Given the description of an element on the screen output the (x, y) to click on. 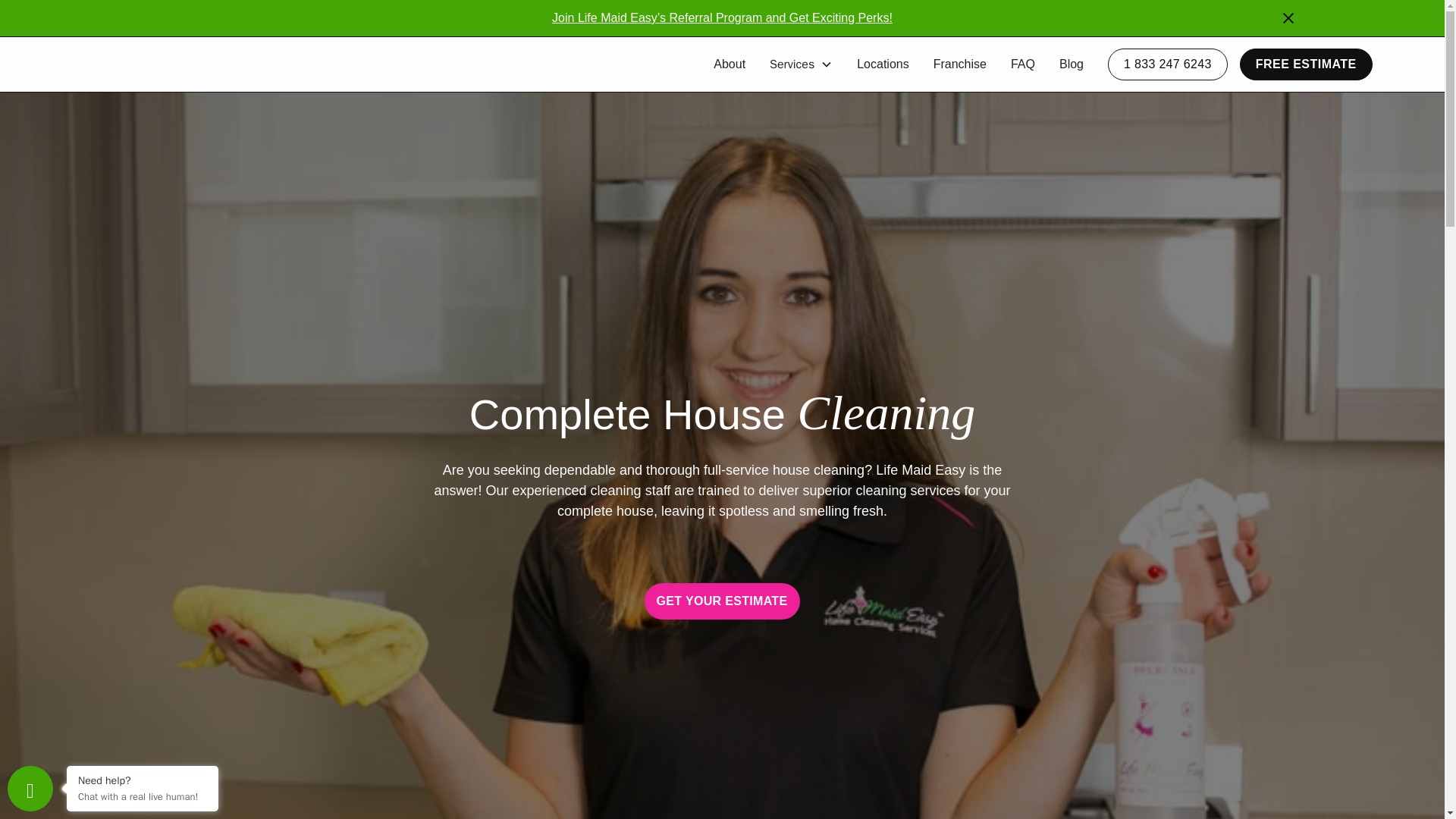
Chat with a real live human! (142, 796)
Locations (882, 64)
About (729, 64)
Franchise (959, 64)
FAQ (1022, 64)
GET YOUR ESTIMATE (722, 601)
Blog (1071, 64)
FREE ESTIMATE (1306, 64)
Need help? (142, 780)
1 833 247 6243 (1167, 64)
